Given the description of an element on the screen output the (x, y) to click on. 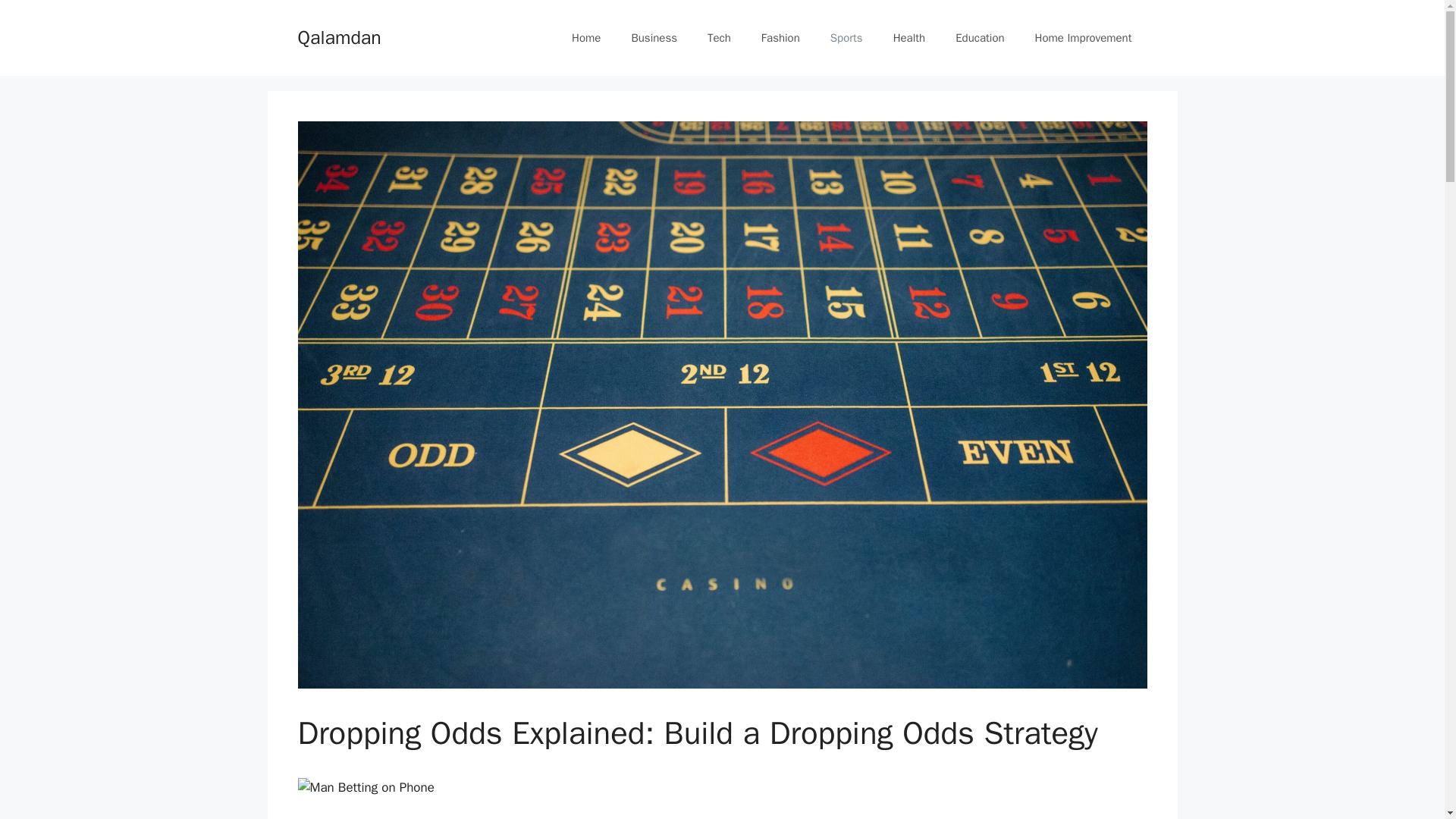
Home Improvement (1083, 37)
Fashion (780, 37)
Home (585, 37)
Sports (846, 37)
Qalamdan (338, 37)
Tech (719, 37)
Health (908, 37)
Business (654, 37)
Education (979, 37)
